Given the description of an element on the screen output the (x, y) to click on. 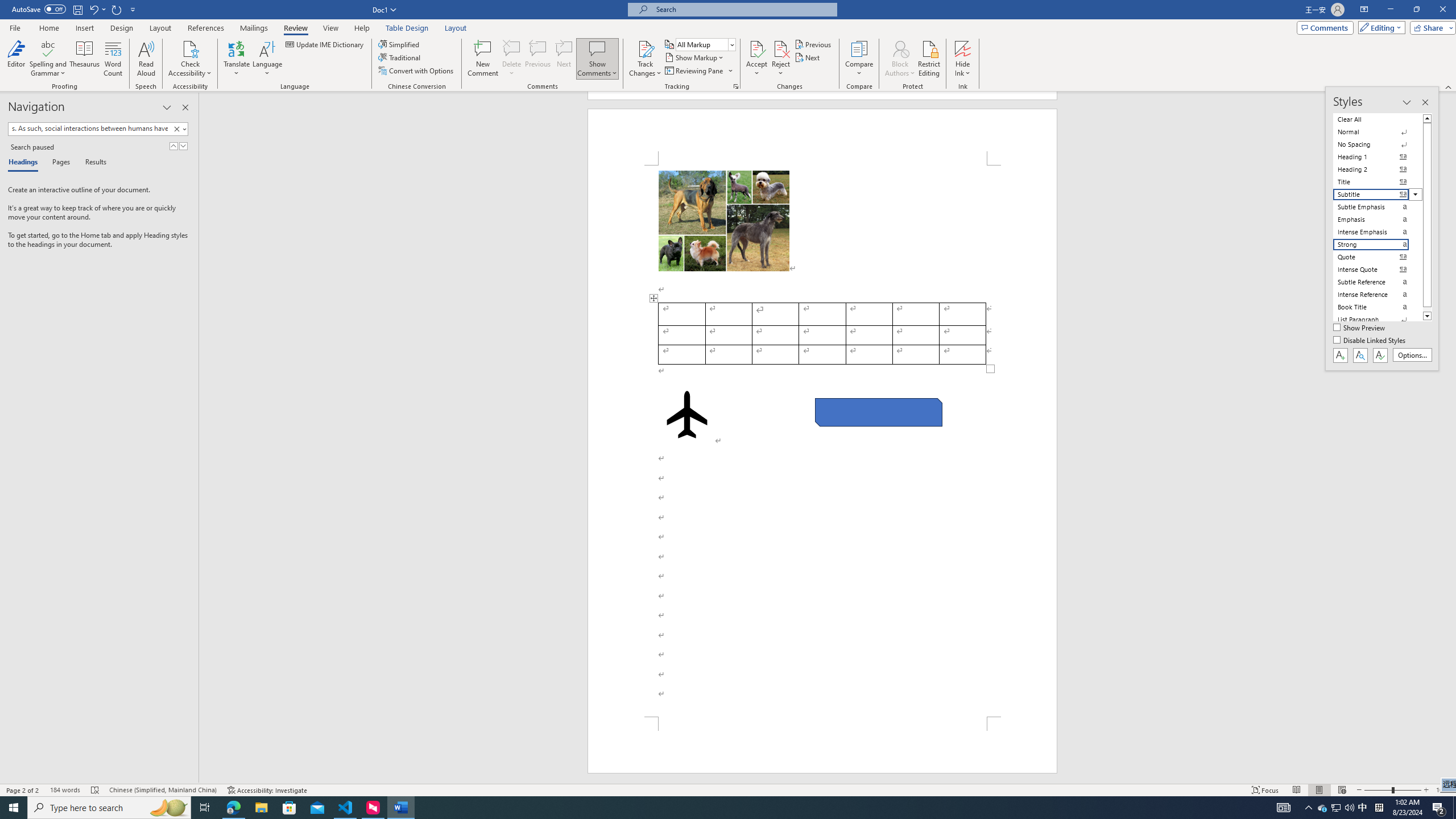
Reviewing Pane (694, 69)
Airplane with solid fill (686, 414)
Clear (178, 128)
Morphological variation in six dogs (723, 220)
Previous (813, 44)
Subtitle (1377, 194)
Traditional (400, 56)
Editing (1379, 27)
Next Result (183, 145)
Page 2 content (822, 440)
Hide Ink (962, 58)
Undo Style (96, 9)
Emphasis (1377, 219)
